Given the description of an element on the screen output the (x, y) to click on. 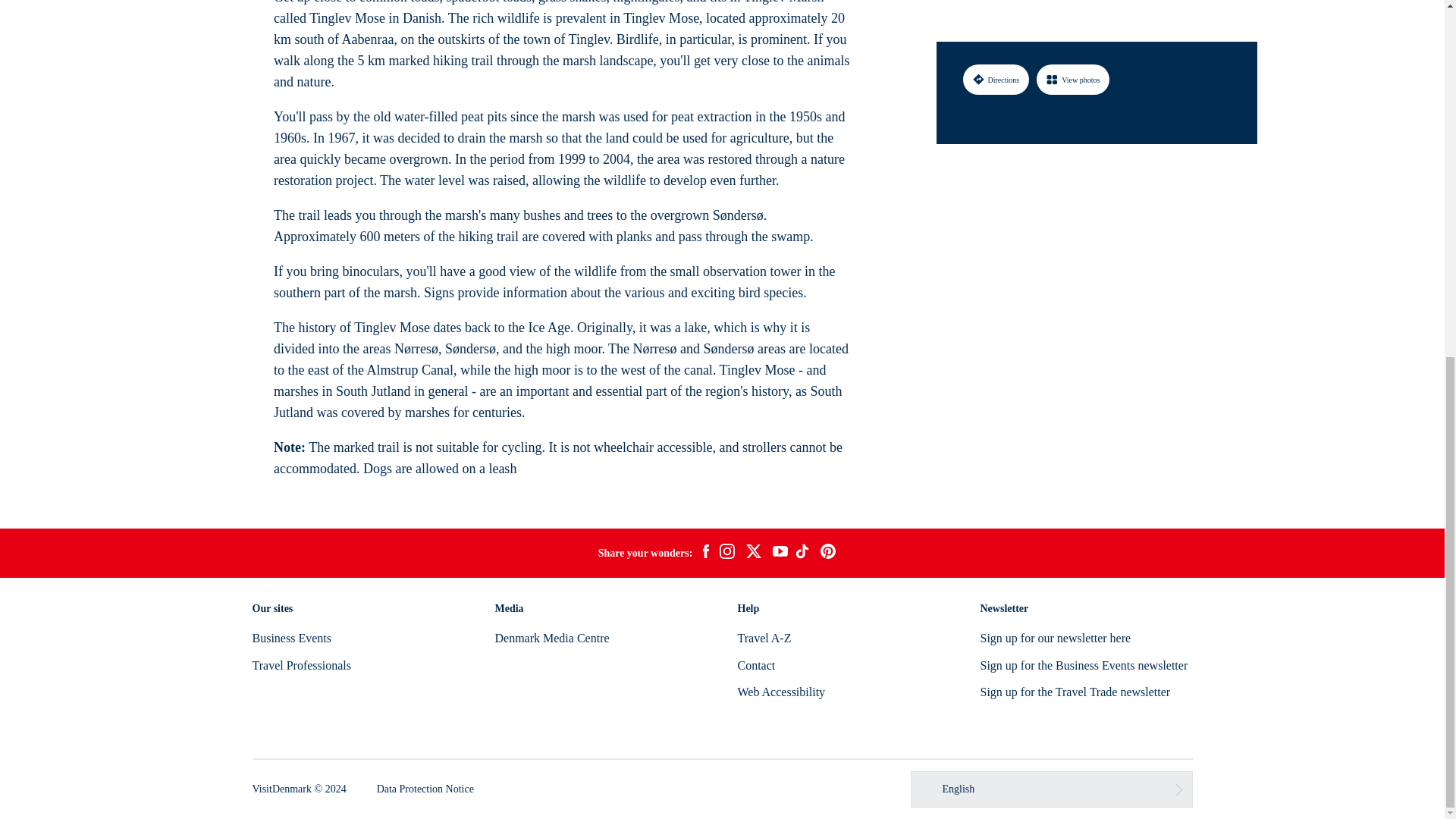
Data Protection Notice (425, 789)
tiktok (804, 553)
Sign up for our newsletter here (1055, 637)
Business Events (290, 637)
Data Protection Notice (425, 789)
Web Accessibility (780, 691)
Sign up for our newsletter here (1055, 637)
twitter (753, 553)
Business Events (290, 637)
instagram (726, 553)
Denmark Media Centre (551, 637)
Denmark Media Centre (551, 637)
Sign up for the Travel Trade newsletter (1074, 691)
youtube (780, 553)
Travel Professionals (300, 665)
